Given the description of an element on the screen output the (x, y) to click on. 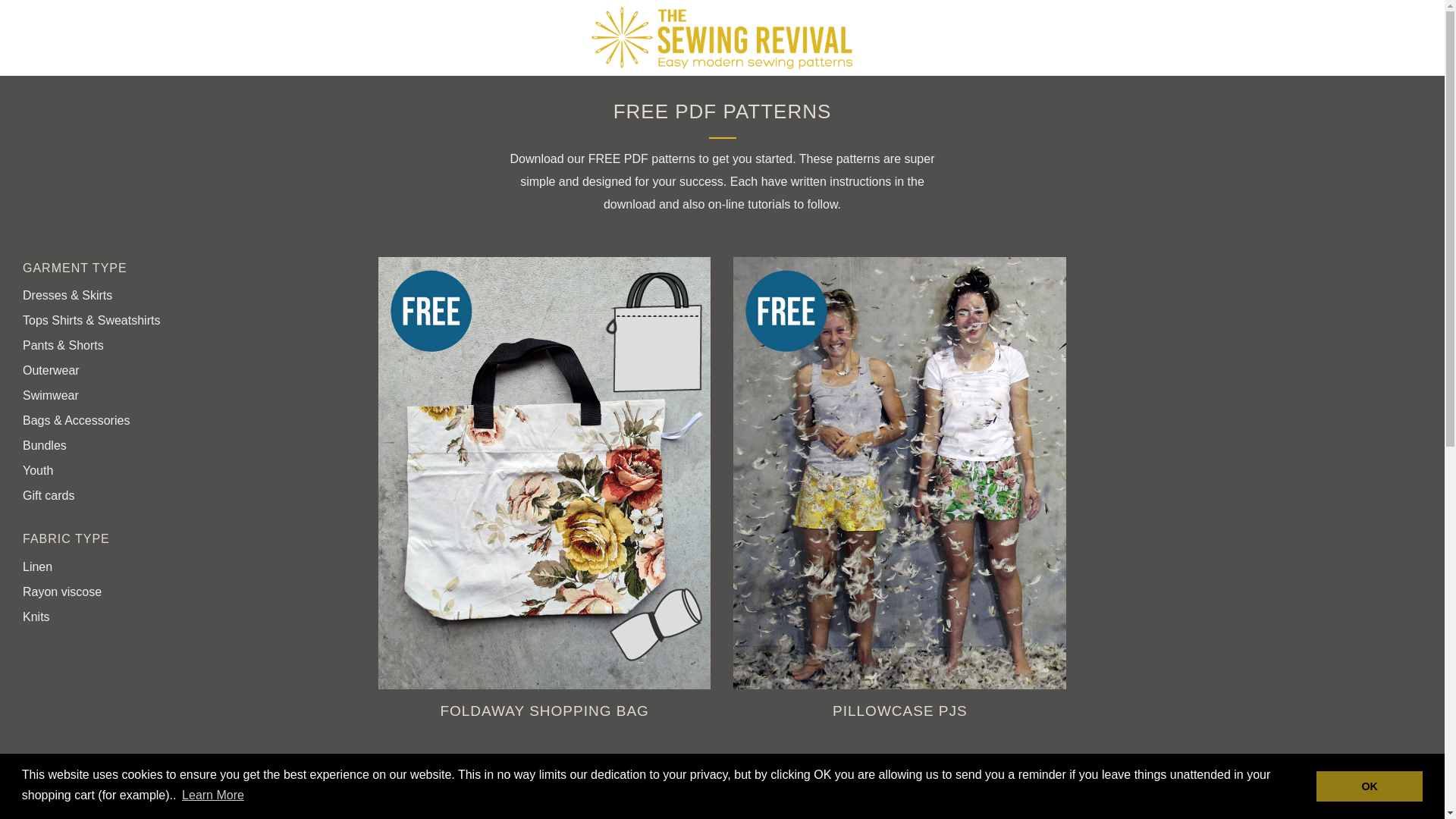
OK (1369, 786)
Pillowcase PJs (899, 710)
Foldaway shopping bag (544, 710)
Learn More (212, 794)
